Given the description of an element on the screen output the (x, y) to click on. 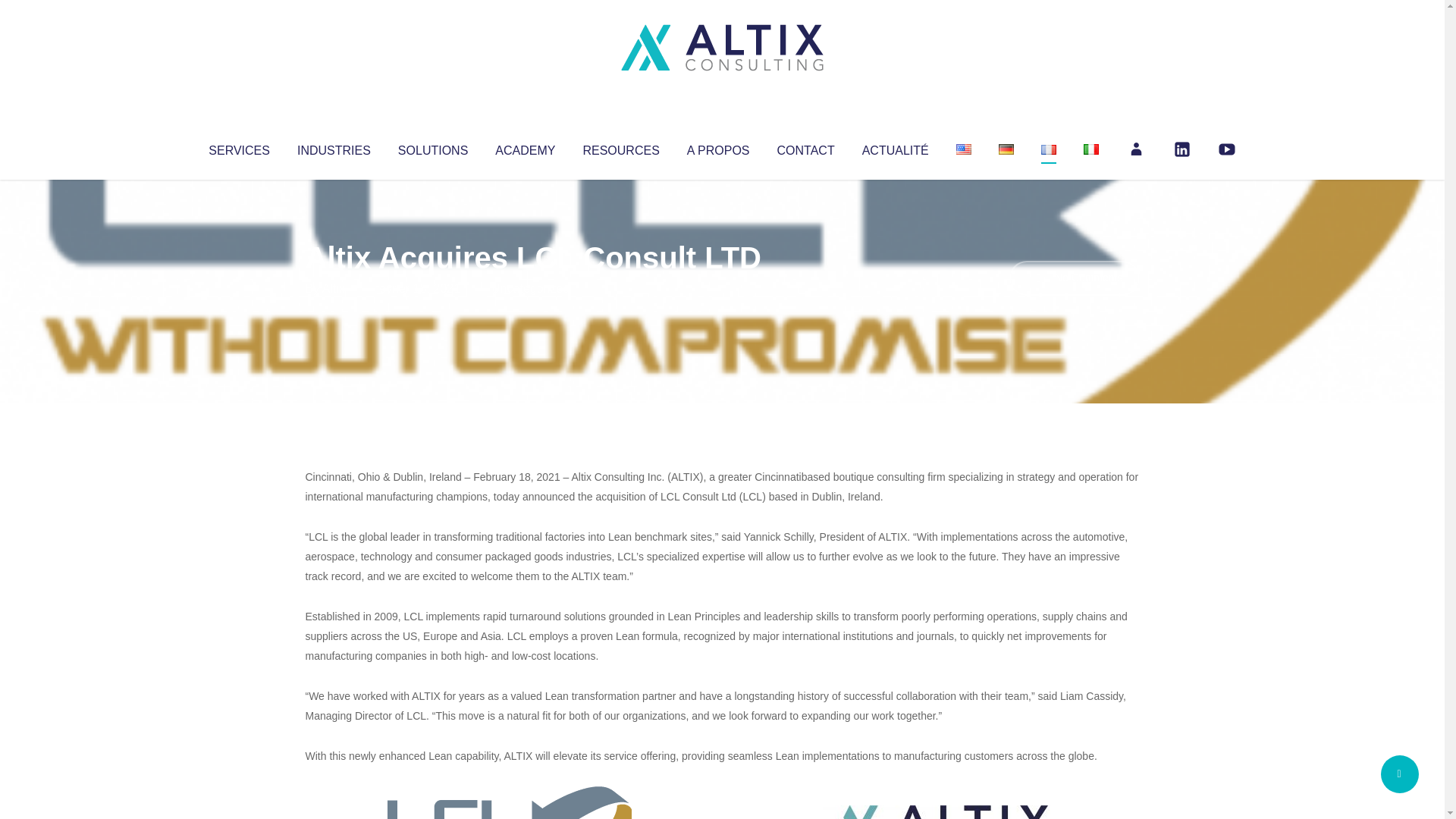
RESOURCES (620, 146)
Altix (333, 287)
INDUSTRIES (334, 146)
No Comments (1073, 278)
SOLUTIONS (432, 146)
ACADEMY (524, 146)
SERVICES (238, 146)
Uncategorized (530, 287)
Articles par Altix (333, 287)
A PROPOS (718, 146)
